Given the description of an element on the screen output the (x, y) to click on. 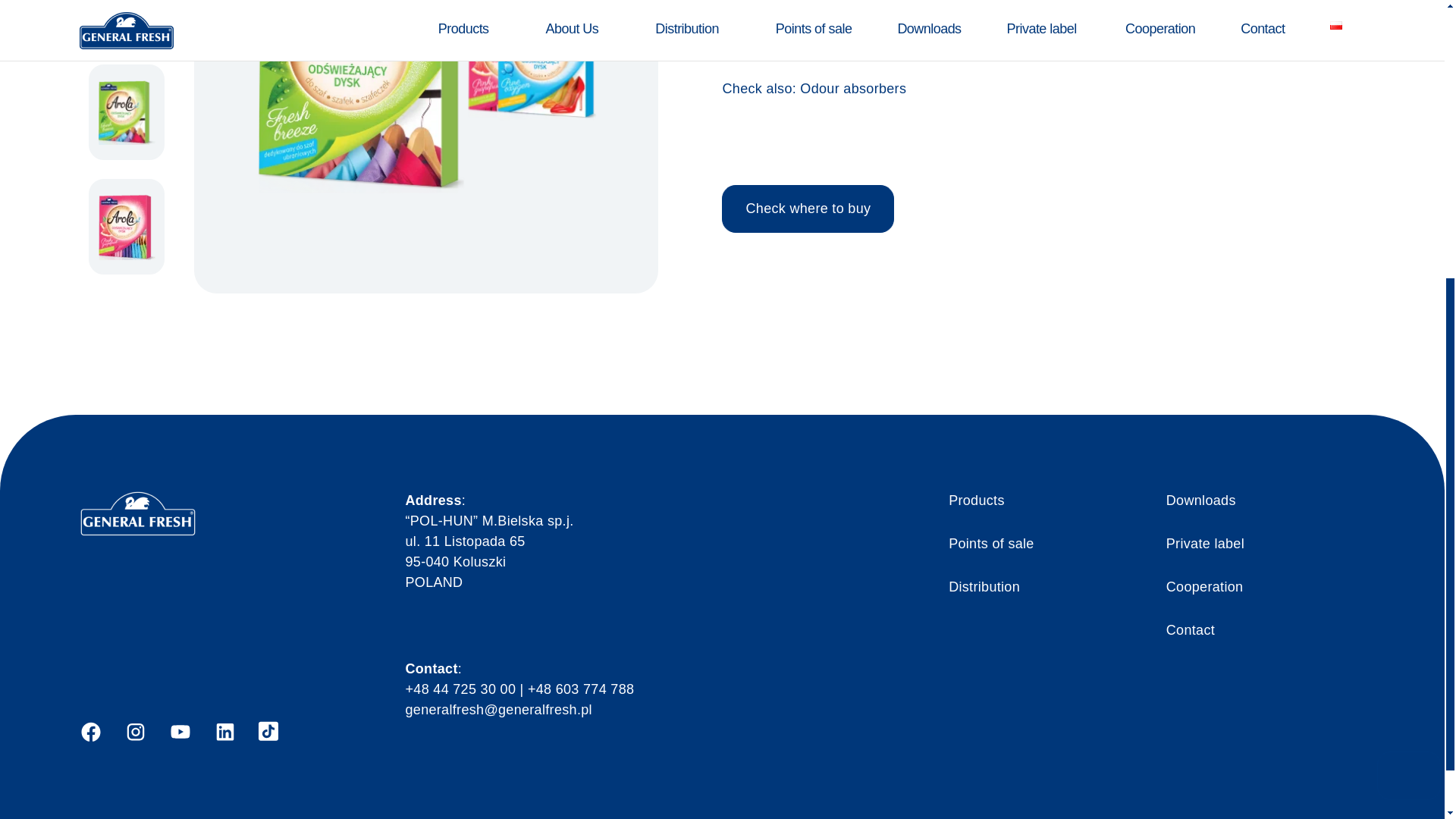
Instagram (135, 731)
Private label (1205, 543)
Cooperation (1204, 586)
Downloads (1201, 500)
Points of sale (991, 543)
Products (976, 500)
Youtube (180, 731)
Facebook (89, 731)
Instagram (224, 731)
Distribution (984, 586)
